Given the description of an element on the screen output the (x, y) to click on. 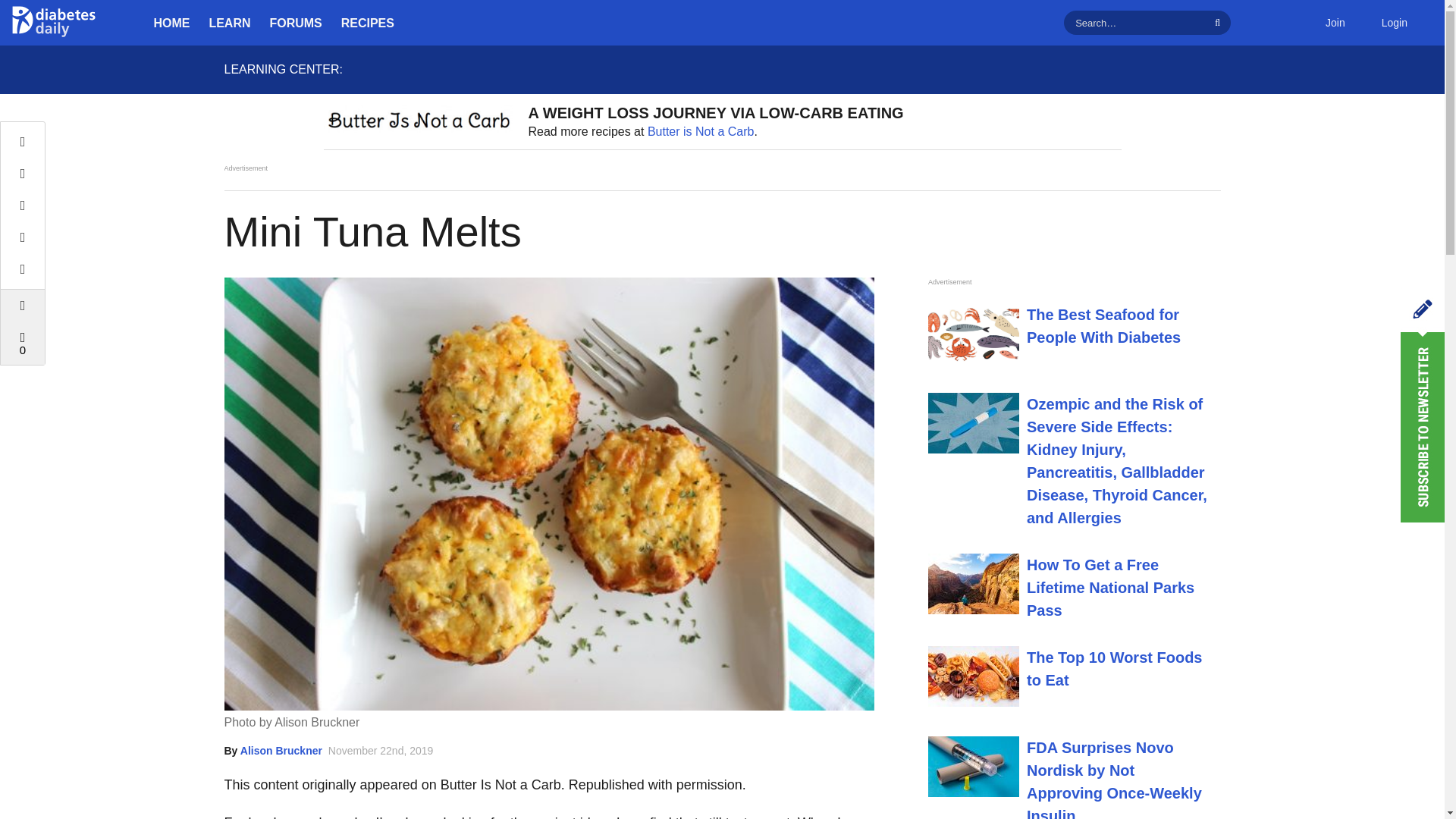
FORUMS (295, 22)
HOME (171, 22)
Join (1334, 22)
Login (1393, 22)
RECIPES (367, 22)
LEARN (229, 22)
